Given the description of an element on the screen output the (x, y) to click on. 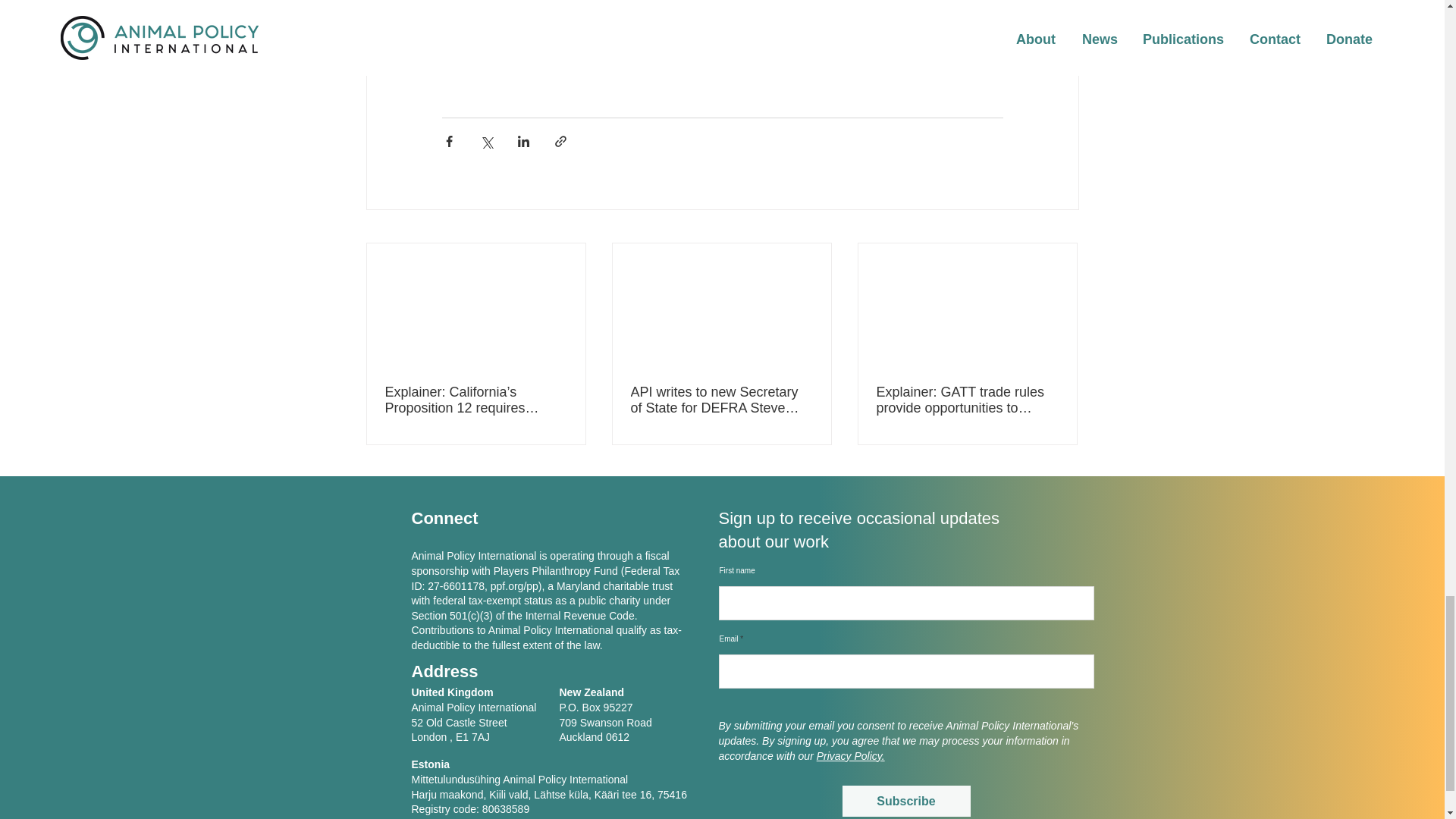
Subscribe (905, 800)
Privacy Policy. (850, 756)
